Given the description of an element on the screen output the (x, y) to click on. 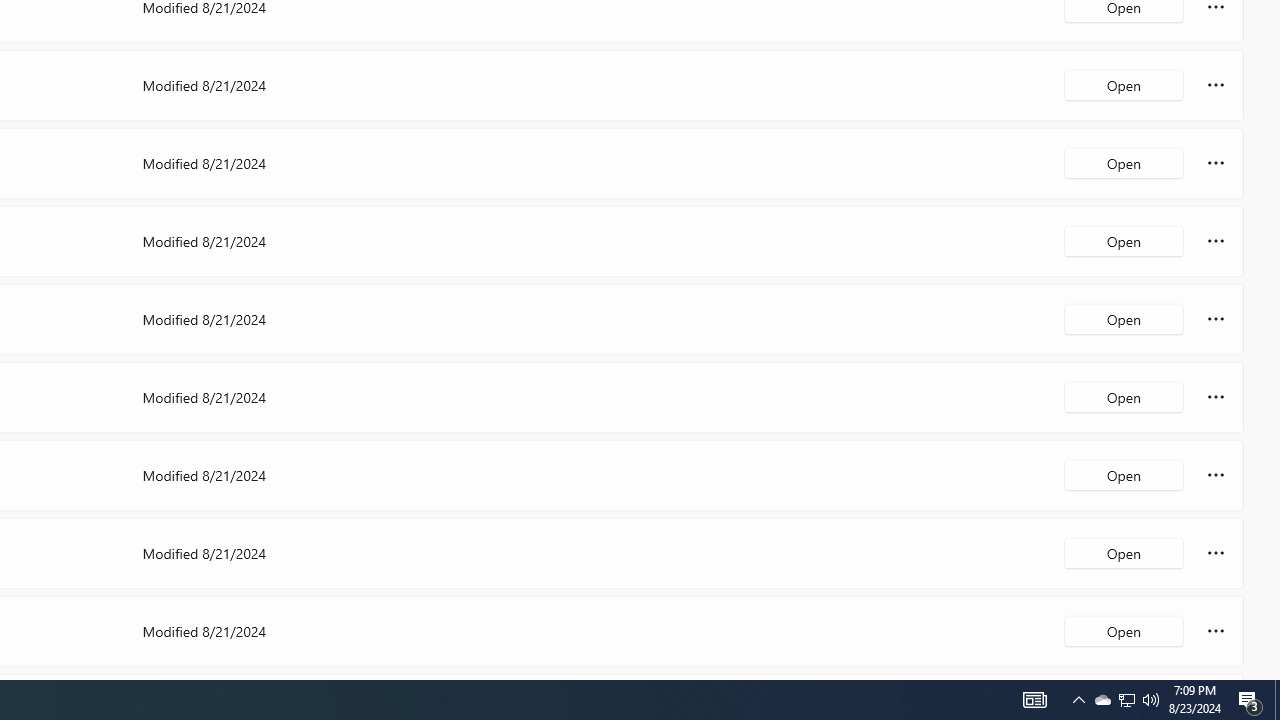
Open (1123, 630)
More options (1215, 630)
